Given the description of an element on the screen output the (x, y) to click on. 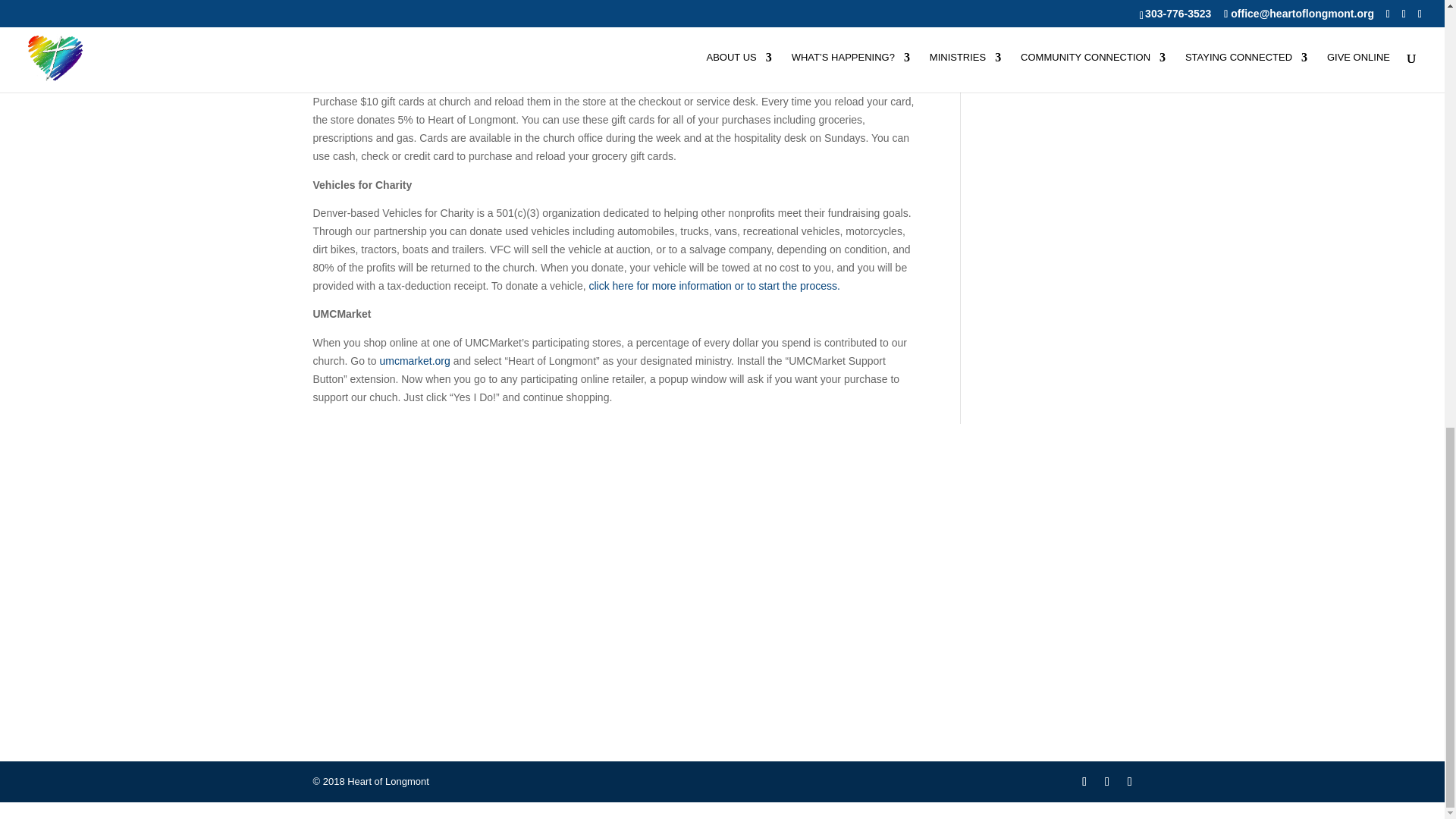
click here for more information or to start the process. (714, 285)
Get in Touch (722, 520)
umcmarket.org (415, 360)
Worship (1009, 520)
